Given the description of an element on the screen output the (x, y) to click on. 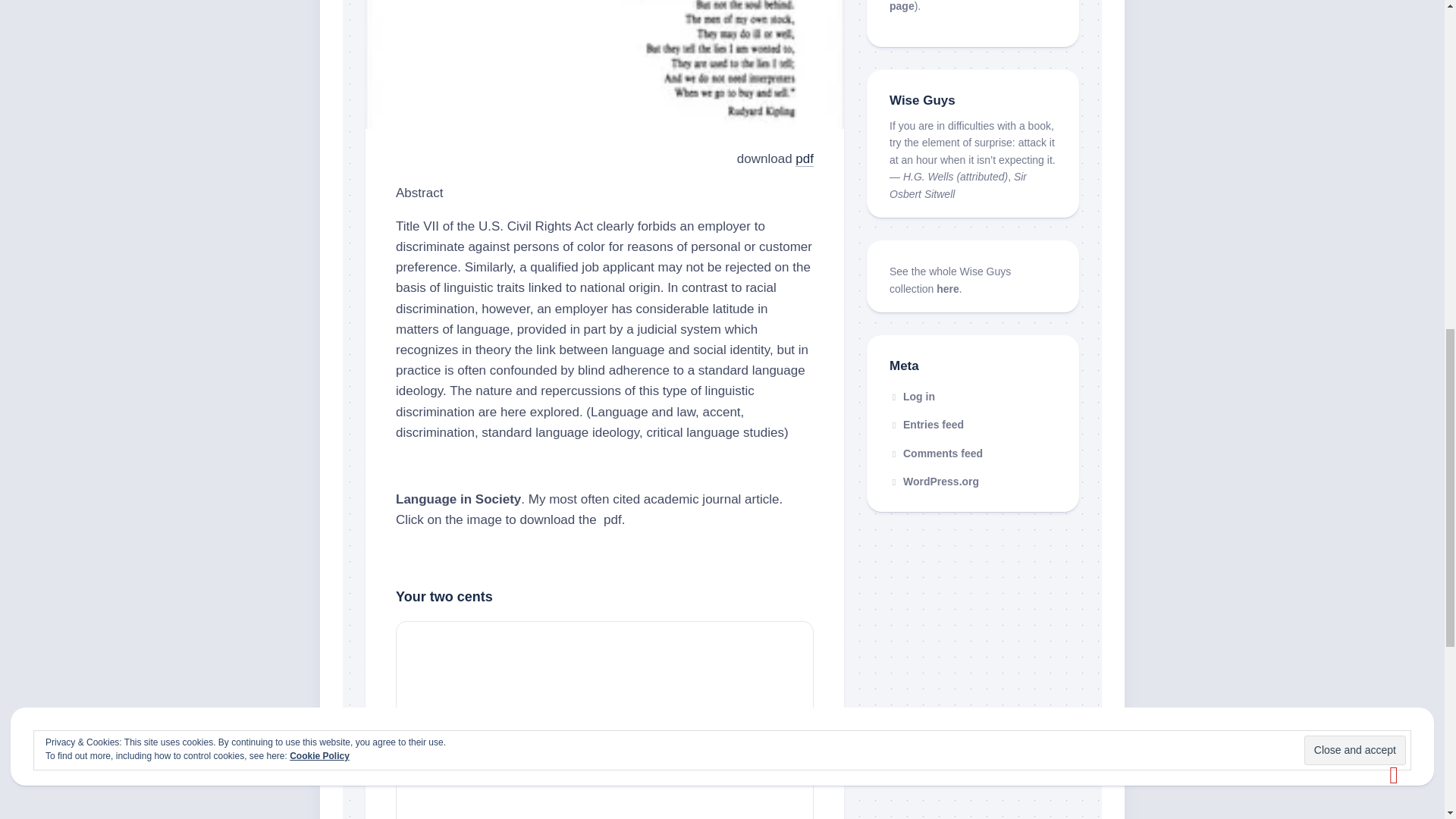
here (947, 288)
Comment Form (604, 724)
pdf (803, 158)
FAQ page (961, 6)
Log in (911, 396)
WordPress.org (933, 481)
Entries feed (926, 424)
Comments feed (935, 453)
